Given the description of an element on the screen output the (x, y) to click on. 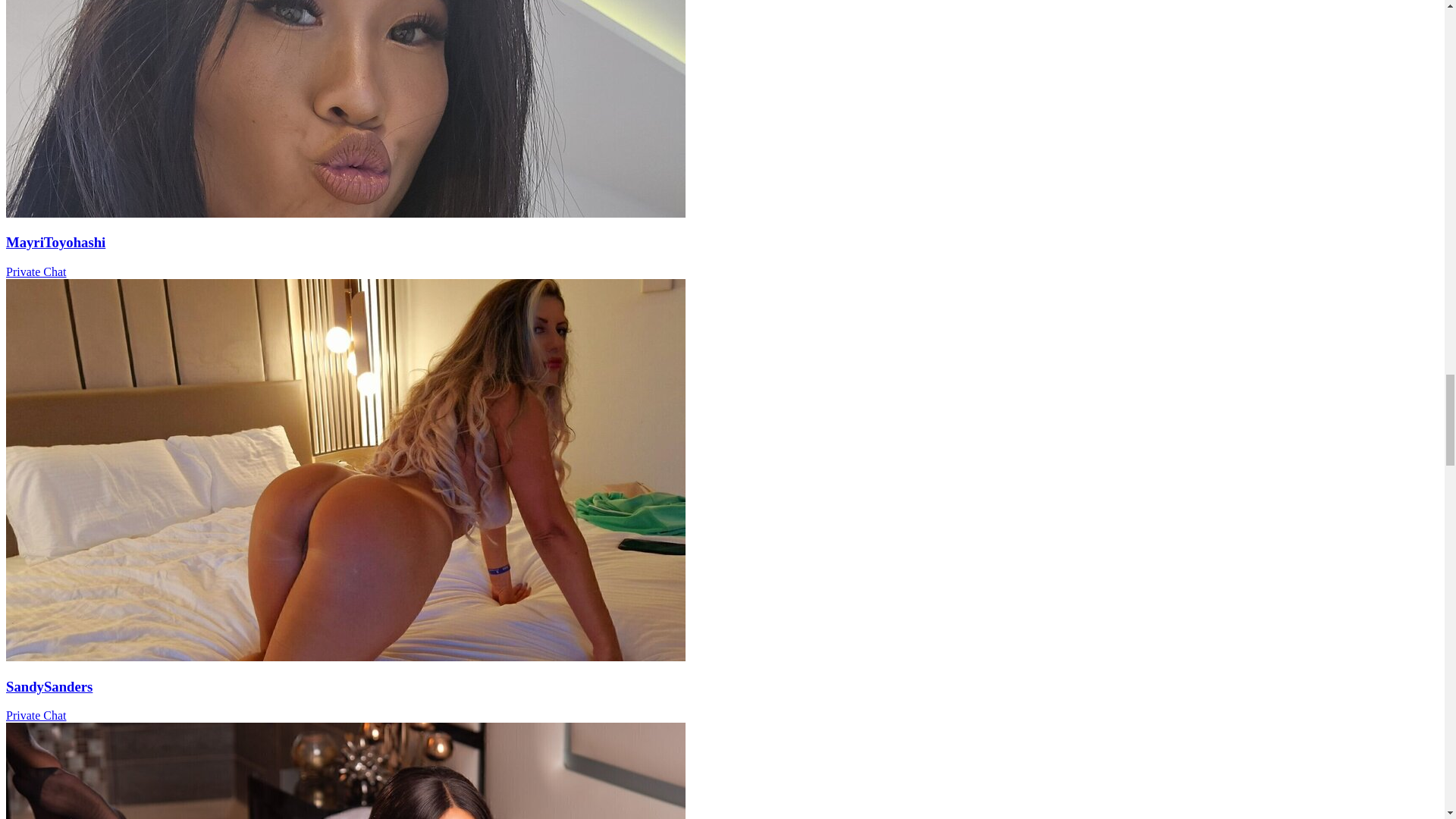
MayriToyohashi's (345, 213)
